Given the description of an element on the screen output the (x, y) to click on. 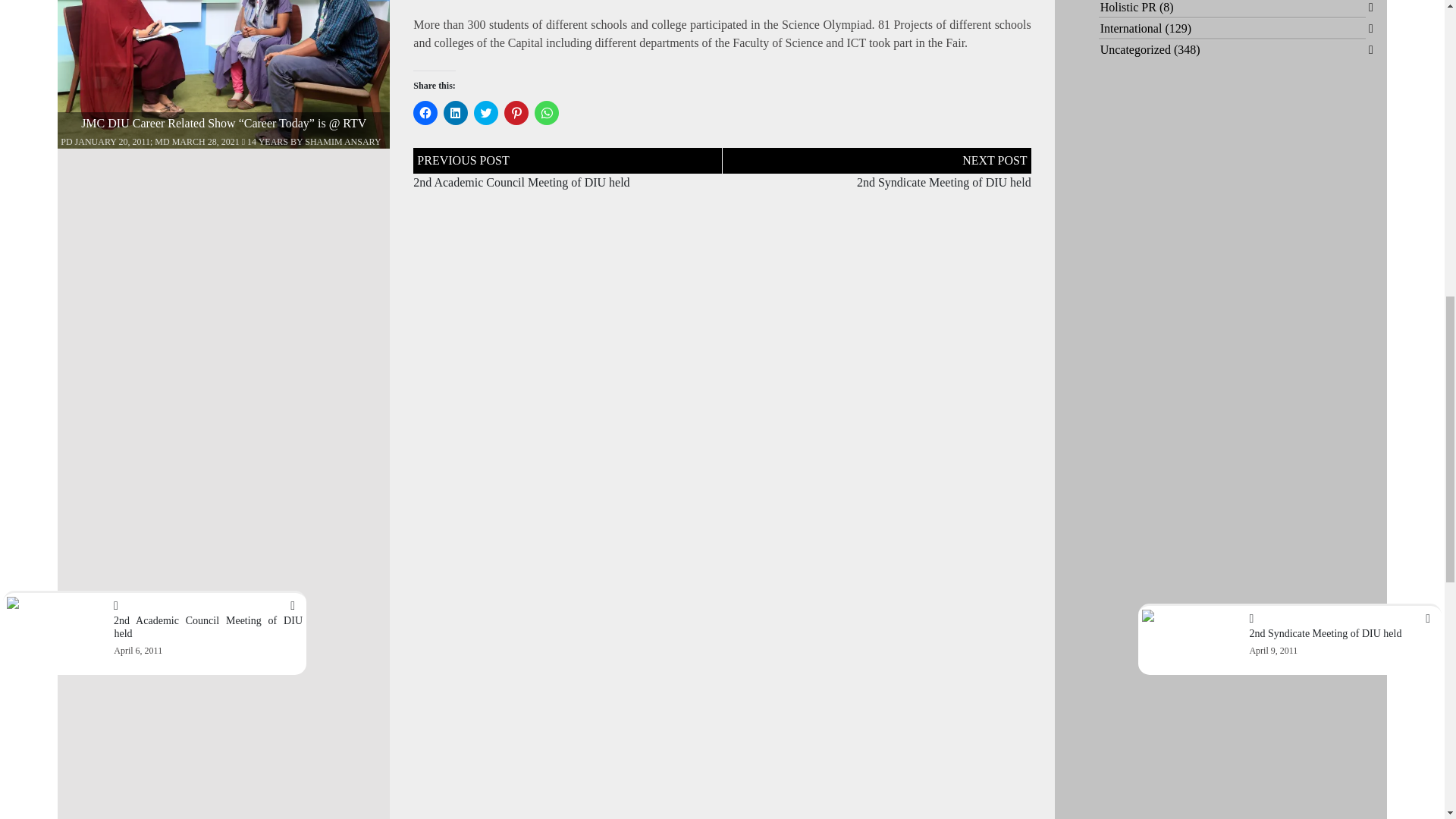
Click to share on Twitter (485, 112)
14 YEARS (265, 141)
Click to share on WhatsApp (546, 112)
Click to share on Facebook (425, 112)
SHAMIM ANSARY (342, 141)
JANUARY 20, 2011; MD MARCH 28, 2021 (157, 141)
Click to share on LinkedIn (455, 112)
Click to share on Pinterest (515, 112)
